Given the description of an element on the screen output the (x, y) to click on. 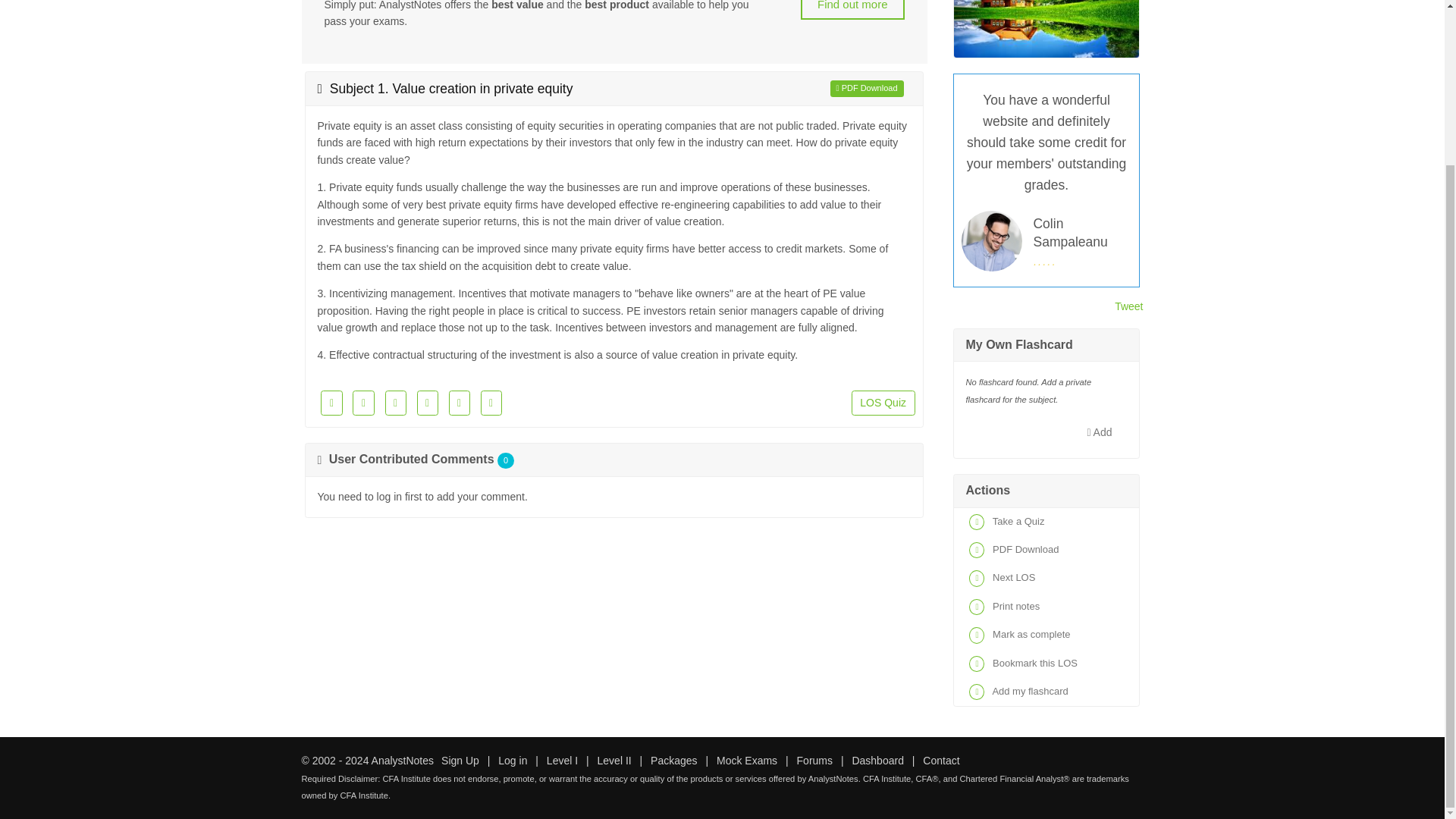
Add (1098, 431)
Next LOS (1045, 578)
Take a Quiz (1045, 521)
PDF Download (866, 88)
LOS Quiz (883, 403)
Tweet (1128, 306)
Find out more (852, 9)
PDF Download (1045, 550)
